Given the description of an element on the screen output the (x, y) to click on. 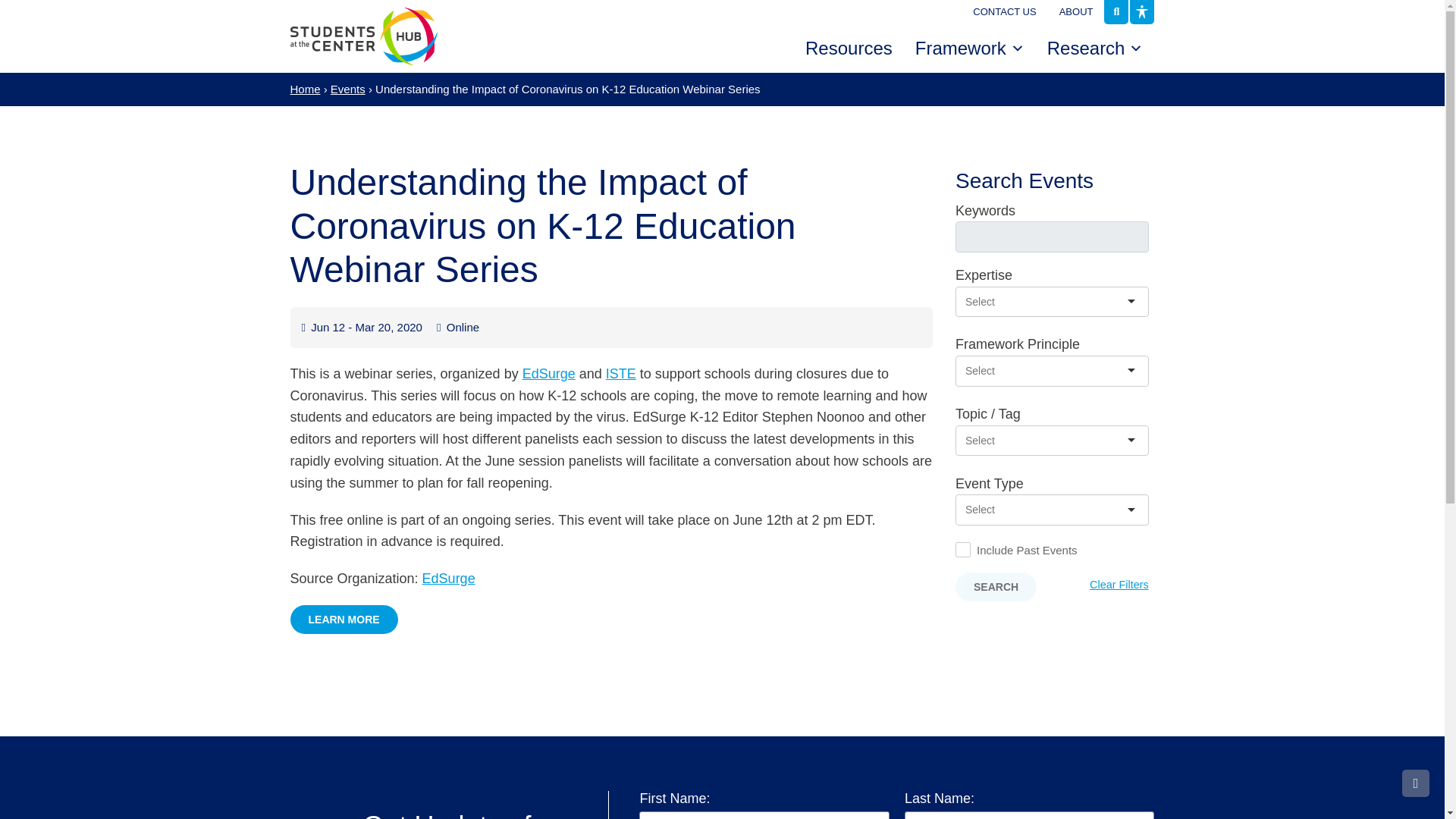
SEARCH (995, 586)
EdSurge (449, 578)
Clear Filters (1118, 584)
Resources (848, 48)
ABOUT (1076, 12)
Go to Students at the Center. (304, 88)
Home (304, 88)
EdSurge (548, 373)
ISTE (620, 373)
LEARN MORE (343, 619)
Events (347, 88)
Framework (969, 48)
CONTACT US (1003, 12)
Go to Events. (347, 88)
Research (1094, 48)
